Given the description of an element on the screen output the (x, y) to click on. 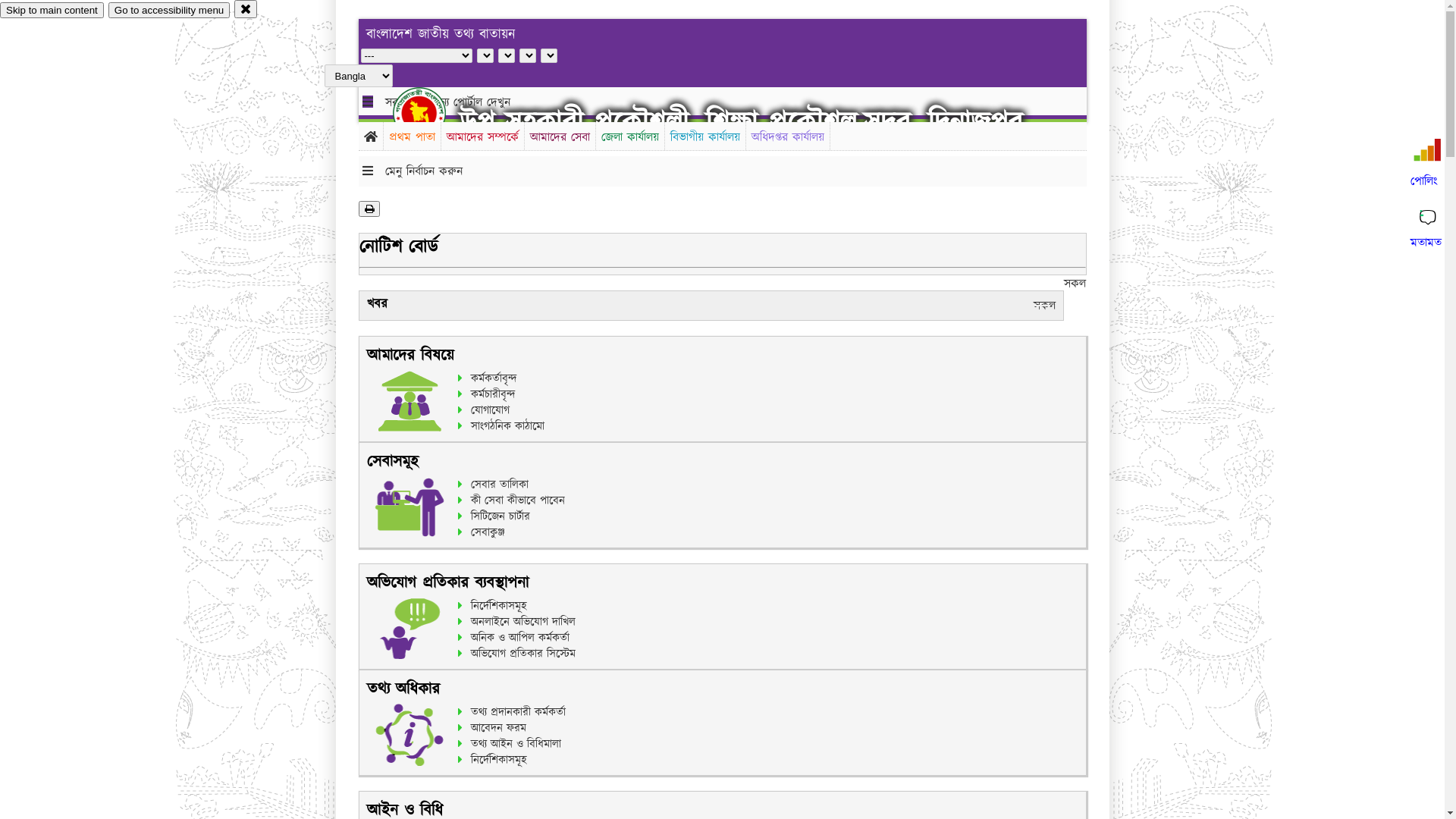
close Element type: hover (245, 9)
Go to accessibility menu Element type: text (168, 10)

                
             Element type: hover (431, 112)
Skip to main content Element type: text (51, 10)
